Given the description of an element on the screen output the (x, y) to click on. 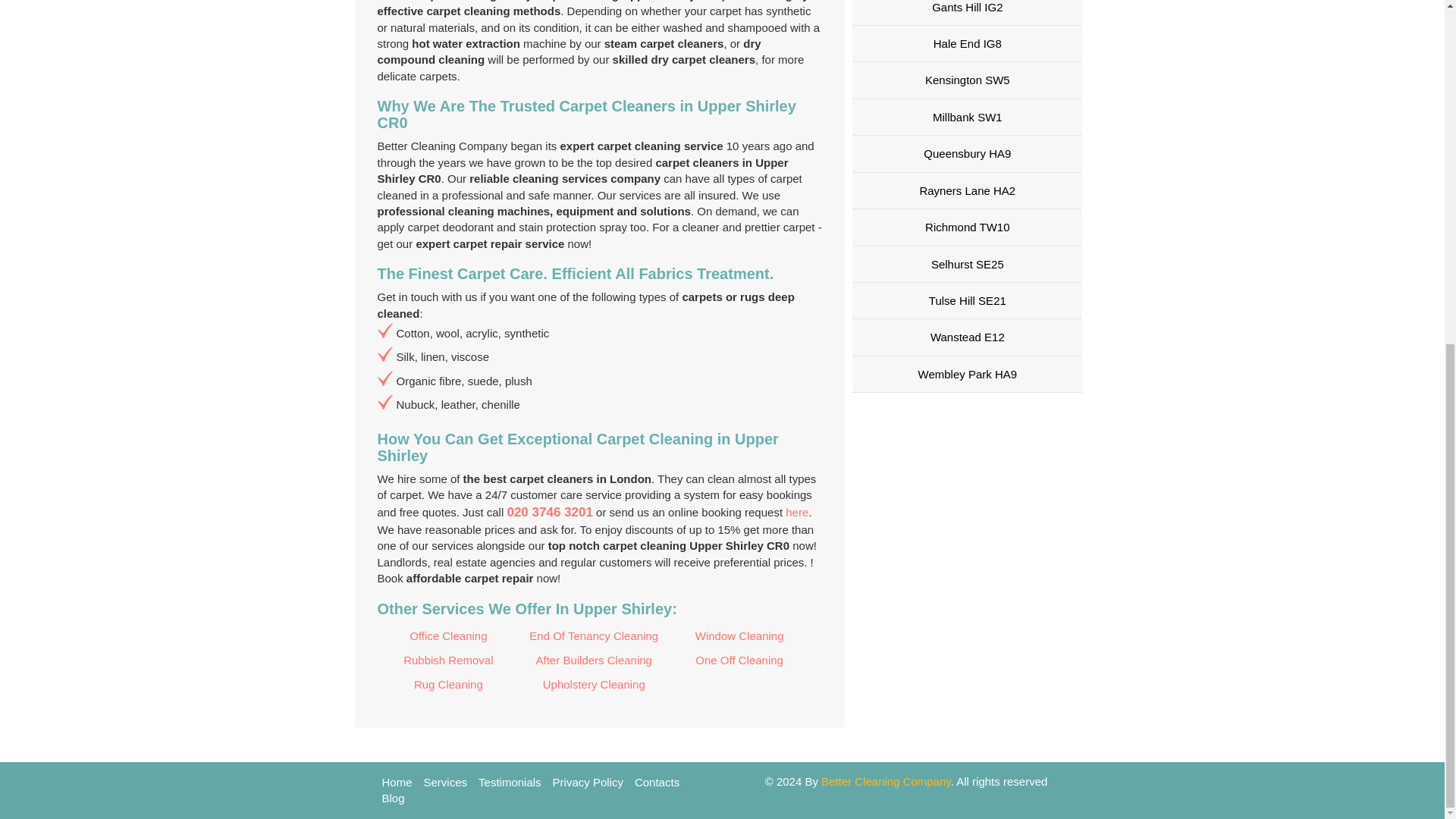
020 3746 3201 (549, 512)
here (797, 512)
Office Cleaning (448, 636)
End Of Tenancy Cleaning (593, 636)
Upholstery Cleaning (593, 684)
Rubbish Removal (448, 660)
After Builders Cleaning (593, 660)
Window Cleaning (739, 636)
Rug Cleaning (448, 684)
One Off Cleaning (739, 660)
